Given the description of an element on the screen output the (x, y) to click on. 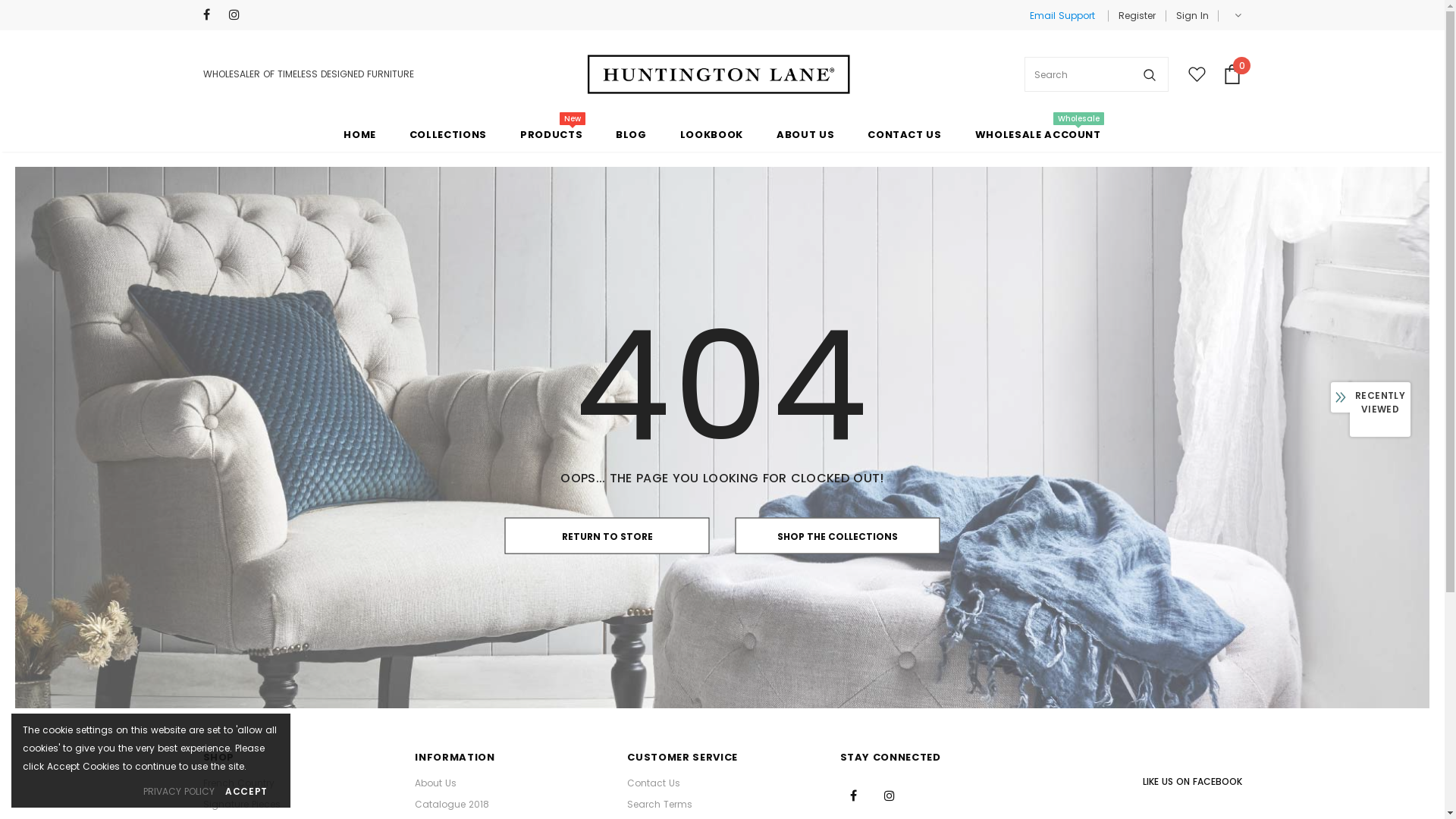
0 Element type: text (1232, 74)
BLOG Element type: text (630, 133)
HOME Element type: text (359, 133)
CONTACT US Element type: text (904, 133)
PRIVACY POLICY Element type: text (178, 791)
RETURN TO STORE Element type: text (607, 535)
PRODUCTS
New Element type: text (551, 133)
Logo Element type: hover (718, 74)
Sign In Element type: text (1186, 15)
French Country Element type: text (238, 782)
Contact Us Element type: text (653, 782)
Register Element type: text (1135, 15)
SHOP THE COLLECTIONS Element type: text (837, 535)
WHOLESALE ACCOUNT
Wholesale Element type: text (1038, 133)
Catalogue 2018 Element type: text (451, 804)
Signature Pieces Element type: text (241, 804)
Search Terms Element type: text (659, 804)
About Us Element type: text (435, 782)
Instagram Element type: hover (238, 14)
Email Support Element type: text (1062, 15)
Instagram Element type: hover (889, 794)
LOOKBOOK Element type: text (711, 133)
COLLECTIONS Element type: text (447, 133)
Facebook Element type: hover (853, 794)
Facebook Element type: hover (212, 14)
ABOUT US Element type: text (805, 133)
